Given the description of an element on the screen output the (x, y) to click on. 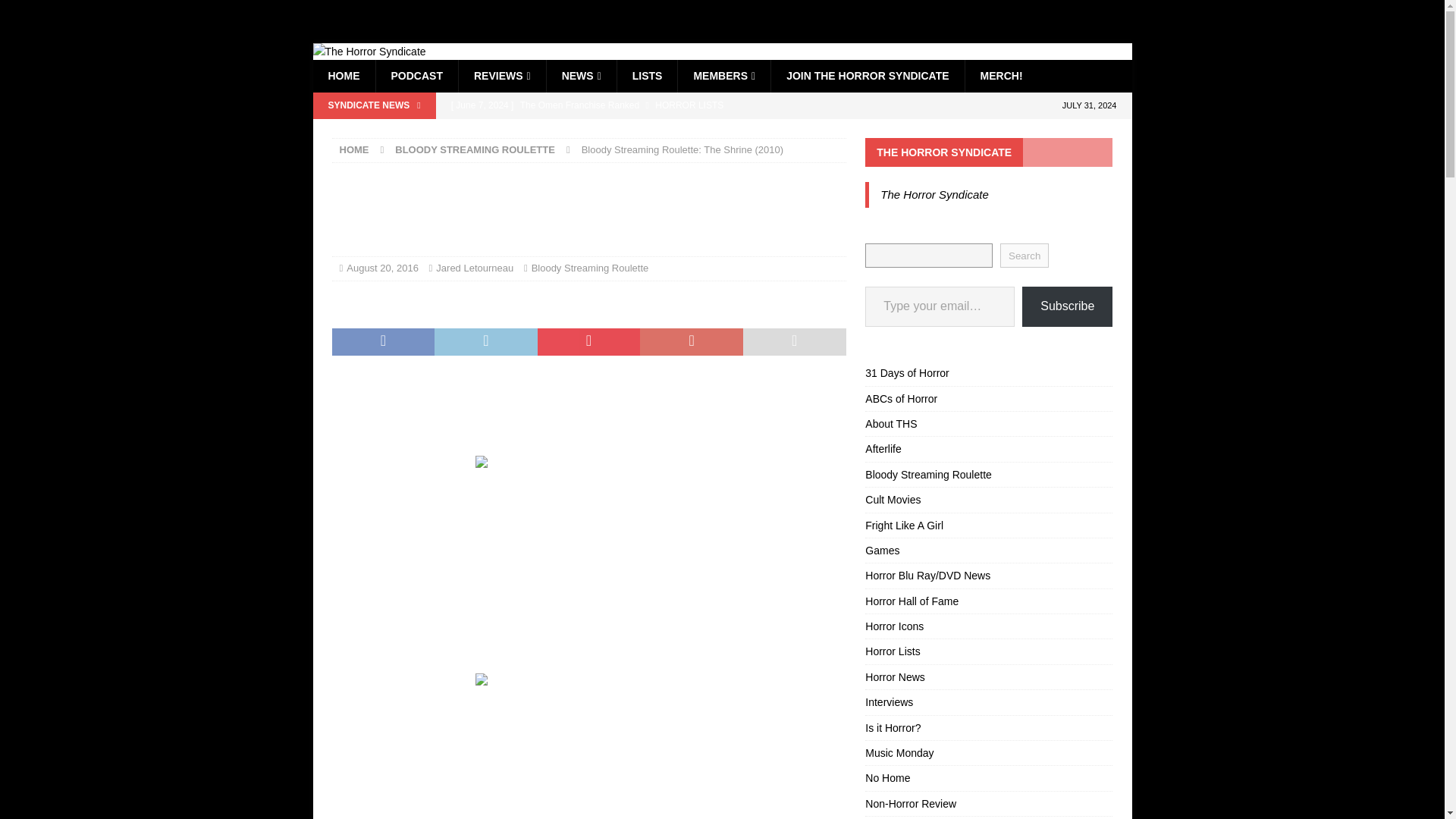
MERCH! (1000, 75)
The Horror Syndicate (369, 51)
JOIN THE HORROR SYNDICATE (866, 75)
BLOODY STREAMING ROULETTE (474, 149)
MEMBERS (723, 75)
Jared Letourneau (474, 267)
HOME (343, 75)
PODCAST (415, 75)
LISTS (646, 75)
HOME (354, 149)
Bloody Streaming Roulette (590, 267)
REVIEWS (502, 75)
NEWS (580, 75)
August 20, 2016 (382, 267)
The Omen Franchise Ranked (644, 104)
